Given the description of an element on the screen output the (x, y) to click on. 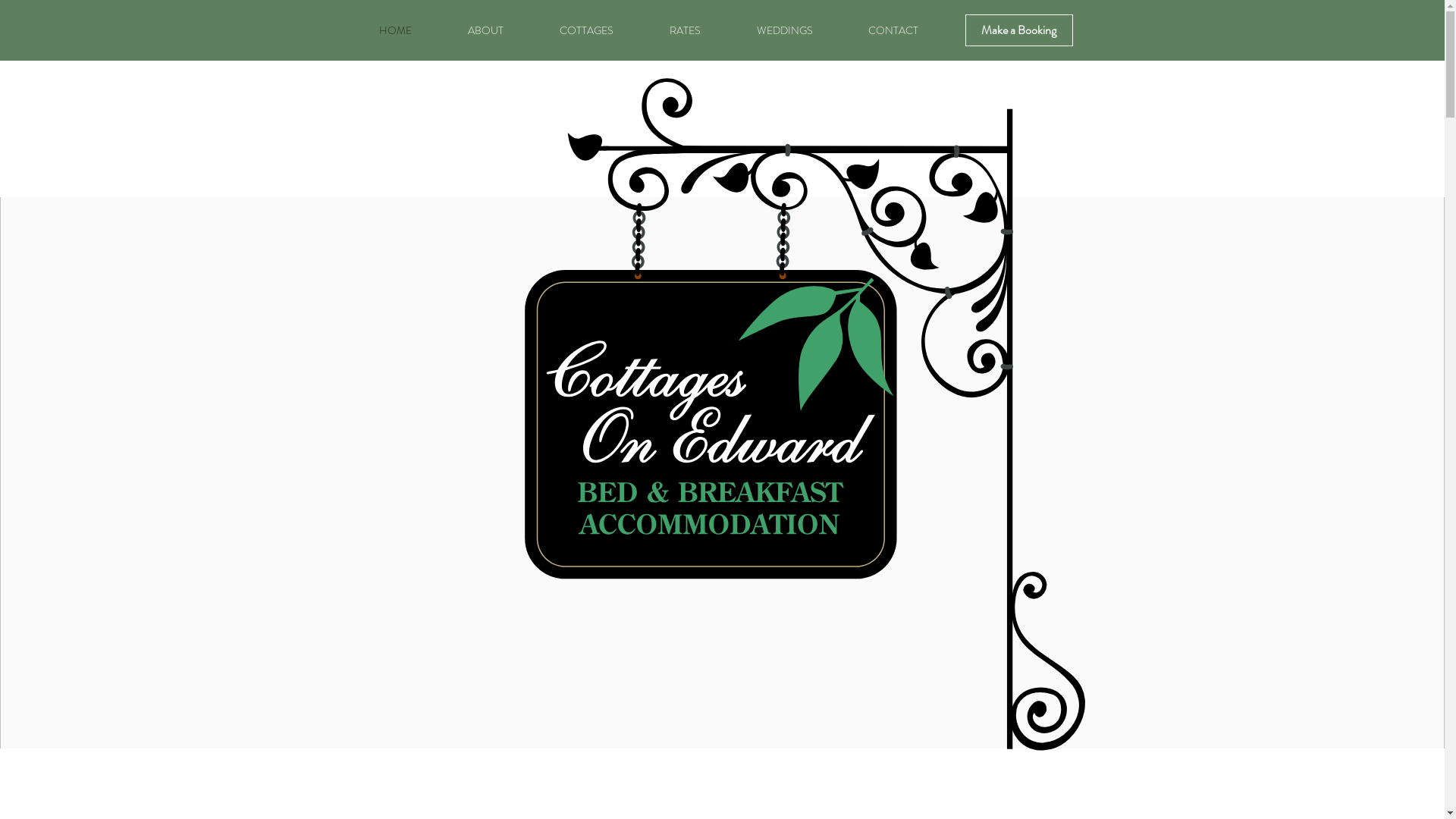
COTTAGES Element type: text (585, 30)
Make a Booking Element type: text (1018, 30)
CONTACT Element type: text (892, 30)
HOME Element type: text (394, 30)
WEDDINGS Element type: text (784, 30)
RATES Element type: text (684, 30)
ABOUT Element type: text (485, 30)
